Given the description of an element on the screen output the (x, y) to click on. 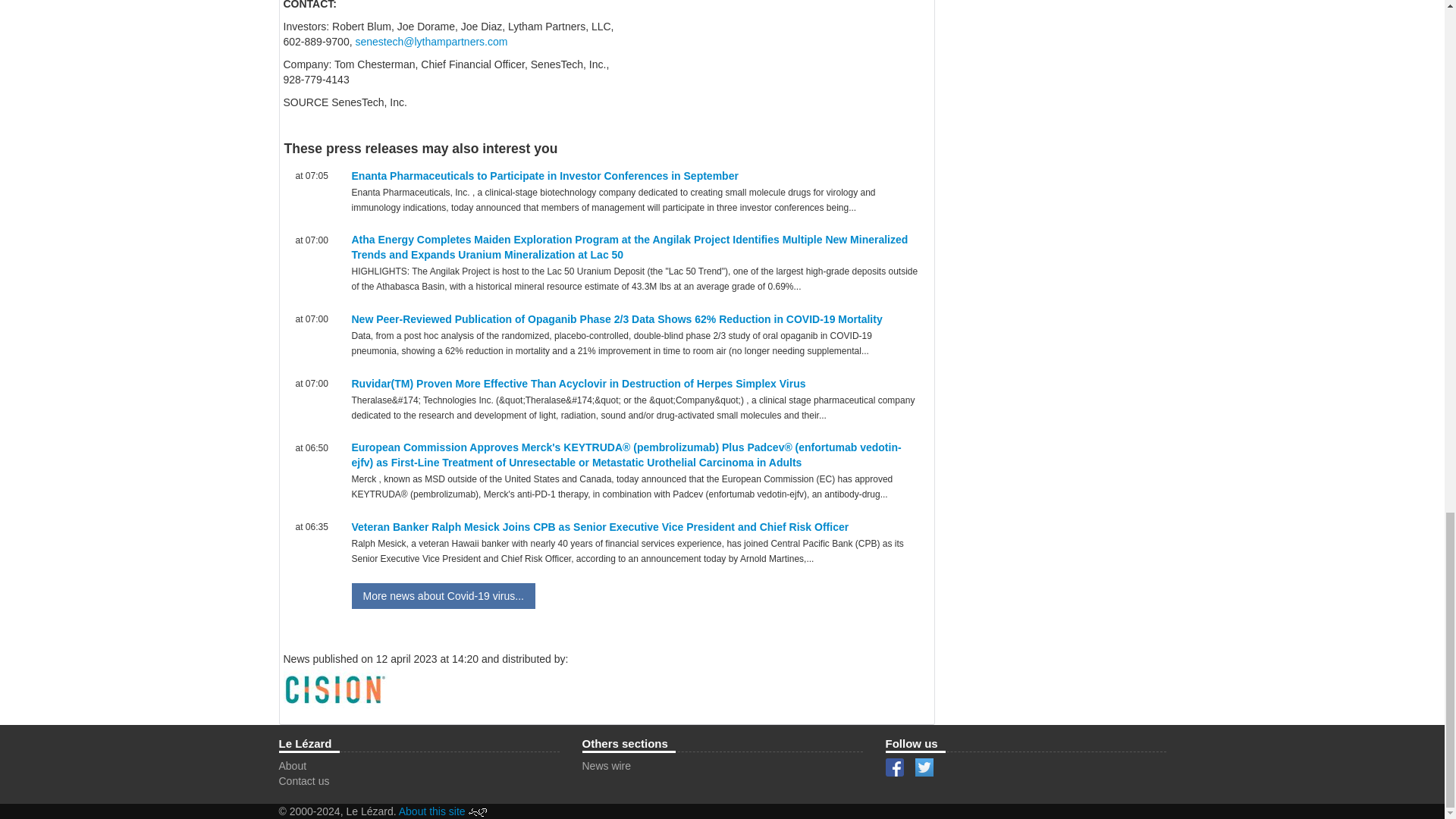
Contact us (304, 780)
About this site (431, 811)
News wire (606, 766)
About (293, 766)
More news about Covid-19 virus... (443, 596)
